Given the description of an element on the screen output the (x, y) to click on. 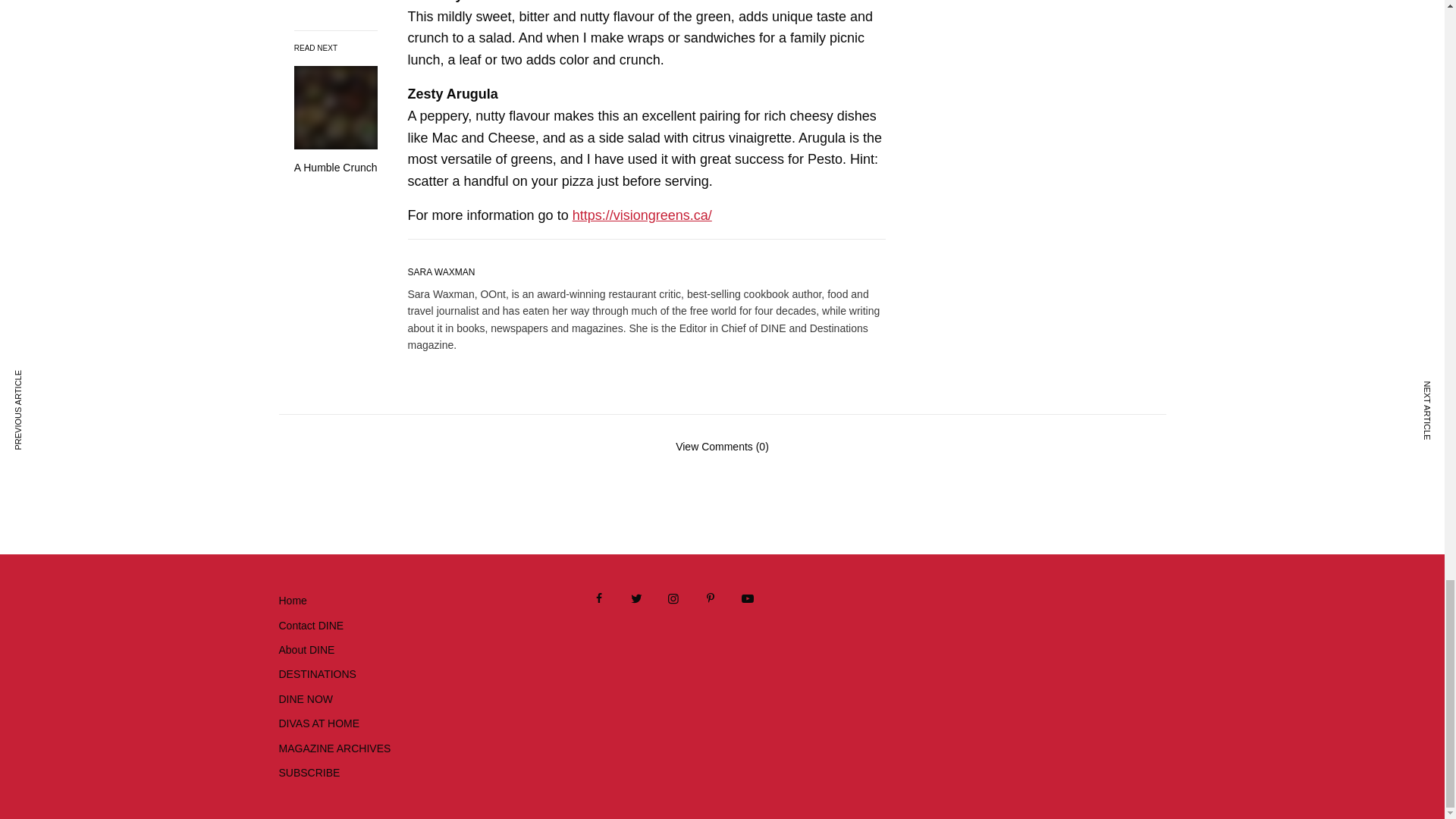
Contact DINE (311, 625)
DESTINATIONS (317, 674)
SUBSCRIBE (309, 772)
Home (293, 600)
About DINE (306, 649)
MAGAZINE ARCHIVES (335, 748)
DINE NOW (306, 698)
SARA WAXMAN (441, 271)
DIVAS AT HOME (319, 723)
